Given the description of an element on the screen output the (x, y) to click on. 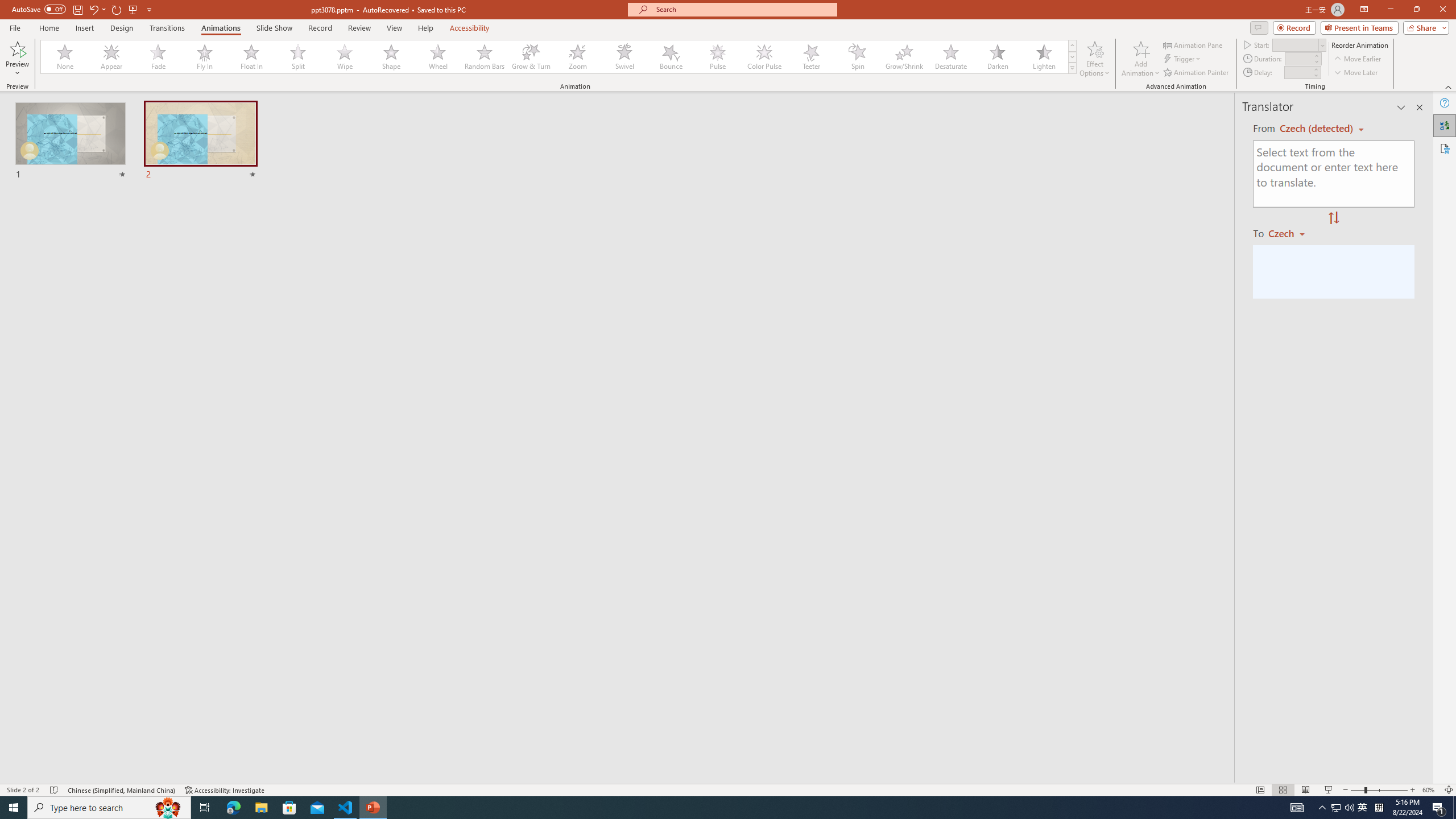
AutomationID: AnimationGallery (558, 56)
Animation Pane (1193, 44)
Appear (111, 56)
Trigger (1182, 58)
Swivel (624, 56)
